Given the description of an element on the screen output the (x, y) to click on. 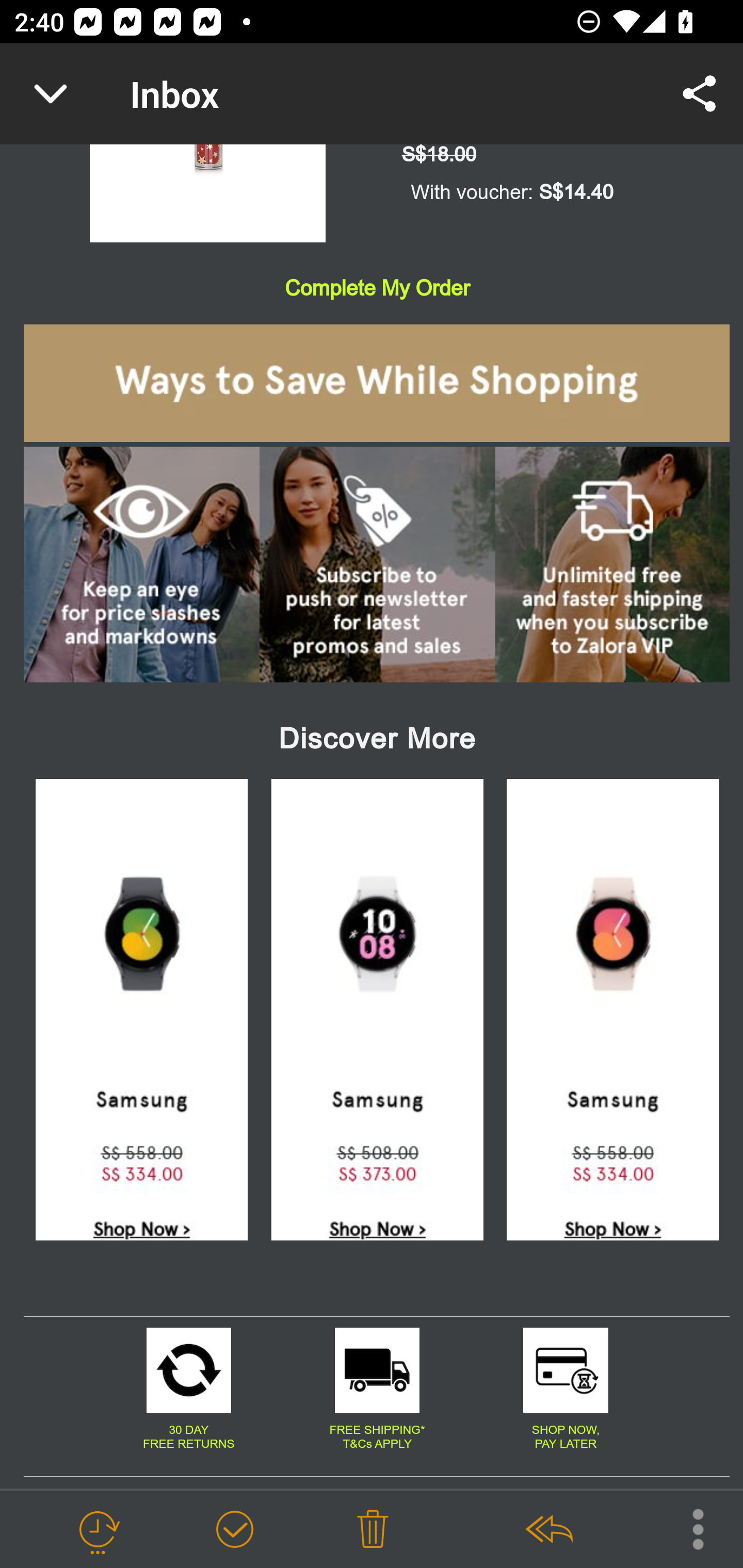
Navigate up (50, 93)
Share (699, 93)
Complete My Order (376, 288)
markdown (141, 565)
push (376, 565)
zvip (612, 565)
original (188, 1372)
original (376, 1372)
original (564, 1372)
30 DAY FREE RETURNS 30 DAY FREE RETURNS (188, 1436)
SHOP NOW, PAY LATER SHOP NOW, PAY LATER (566, 1436)
More Options (687, 1528)
Snooze (97, 1529)
Mark as Done (234, 1529)
Delete (372, 1529)
Reply All (548, 1529)
